Given the description of an element on the screen output the (x, y) to click on. 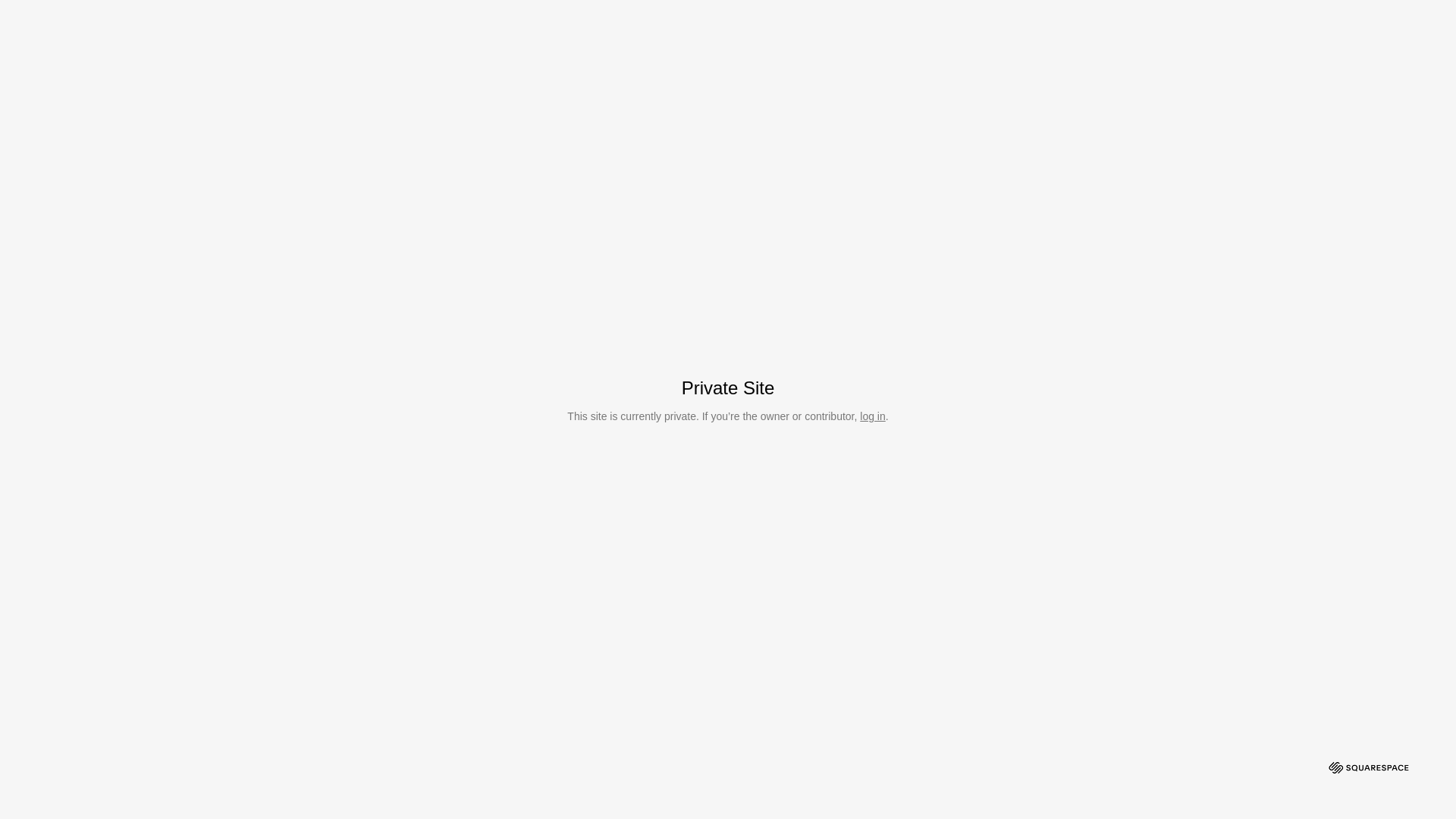
log in Element type: text (871, 416)
